Given the description of an element on the screen output the (x, y) to click on. 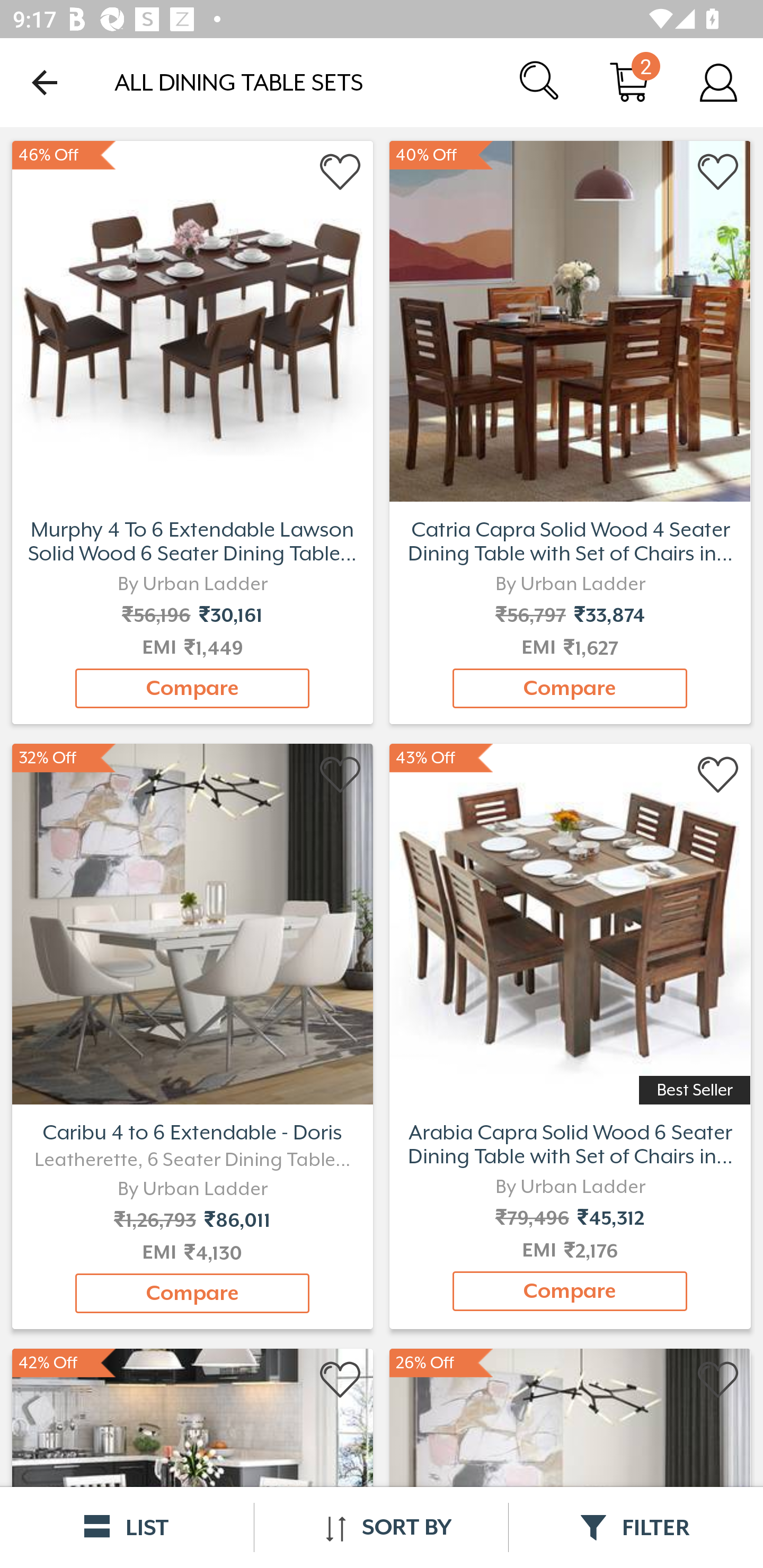
Navigate up (44, 82)
Search (540, 81)
Cart (629, 81)
Account Details (718, 81)
 (341, 172)
 (718, 172)
Compare (192, 687)
Compare (569, 687)
 (341, 775)
 (718, 775)
Compare (569, 1290)
Compare (192, 1293)
 (341, 1380)
 (718, 1380)
 LIST (127, 1527)
SORT BY (381, 1527)
 FILTER (635, 1527)
